Given the description of an element on the screen output the (x, y) to click on. 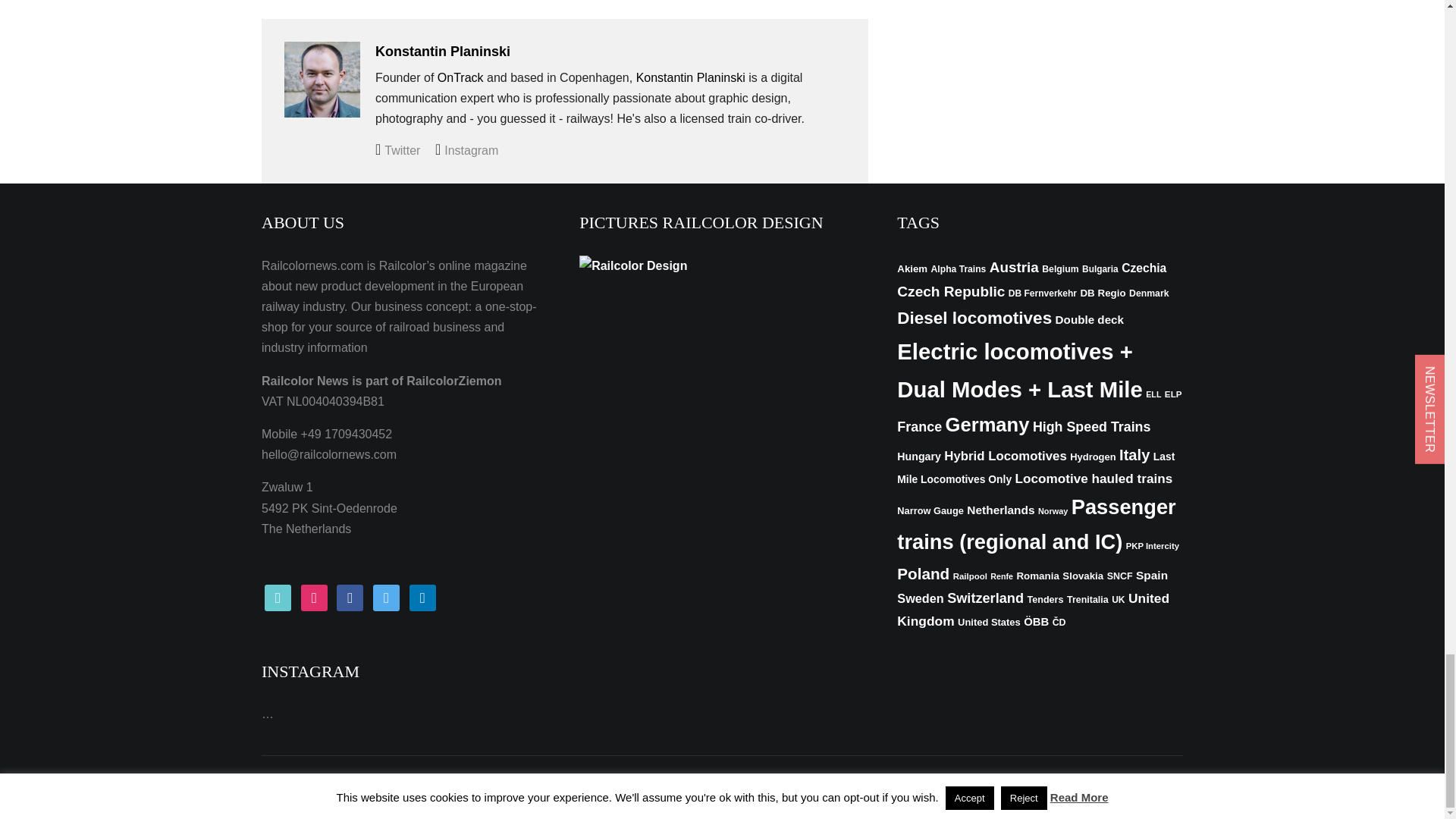
Instagram (314, 596)
Instagram (466, 150)
Follow Konstantin Planinski on Twitter (397, 150)
Facebook (349, 596)
Posts by Konstantin Planinski (443, 51)
